Given the description of an element on the screen output the (x, y) to click on. 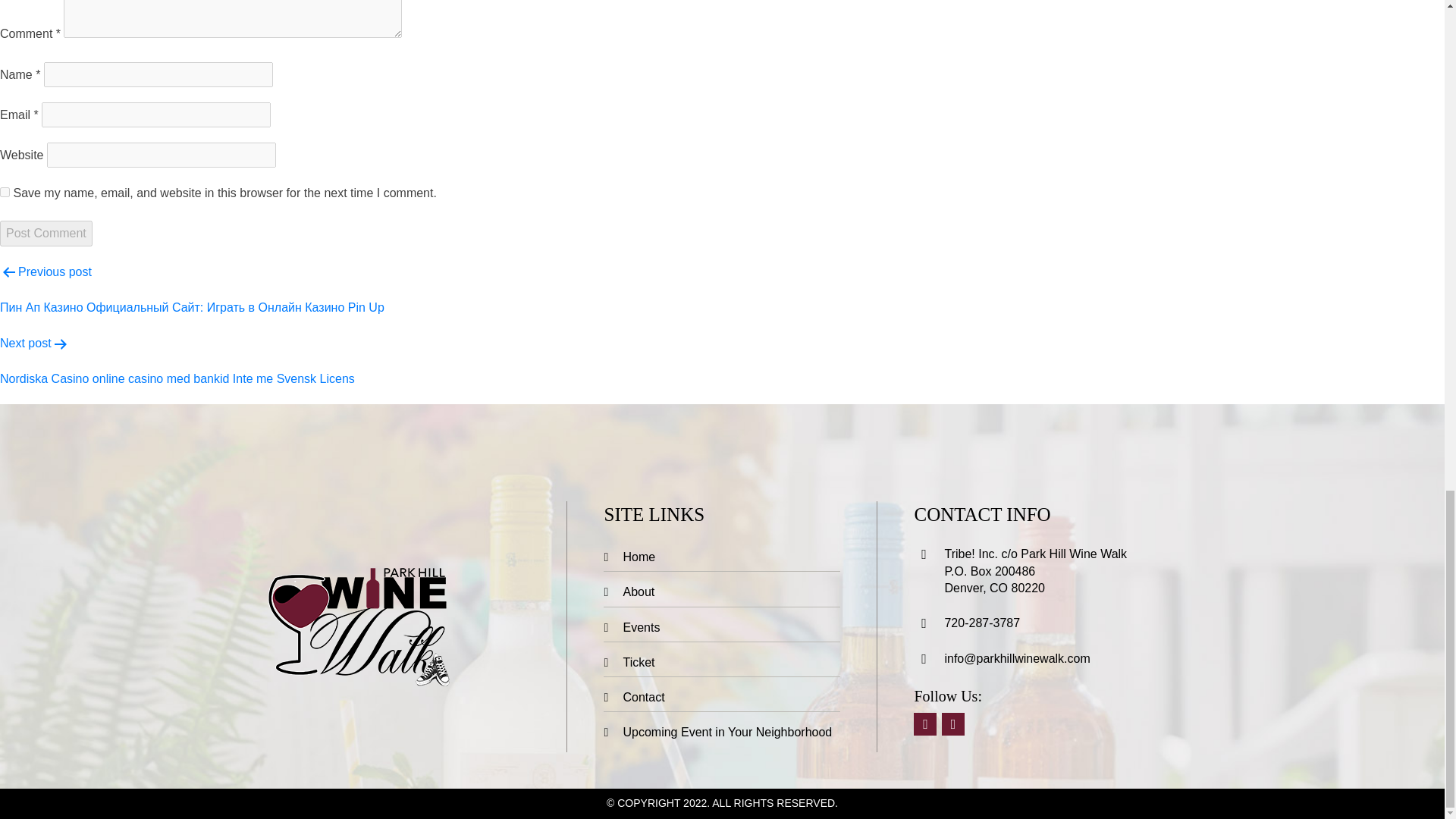
Ticket (722, 662)
Contact (722, 697)
Events (722, 627)
Upcoming Event in Your Neighborhood (722, 732)
Home (722, 556)
Contact (722, 697)
Events (722, 627)
About (722, 592)
720-287-3787 (981, 622)
Post Comment (46, 232)
